Given the description of an element on the screen output the (x, y) to click on. 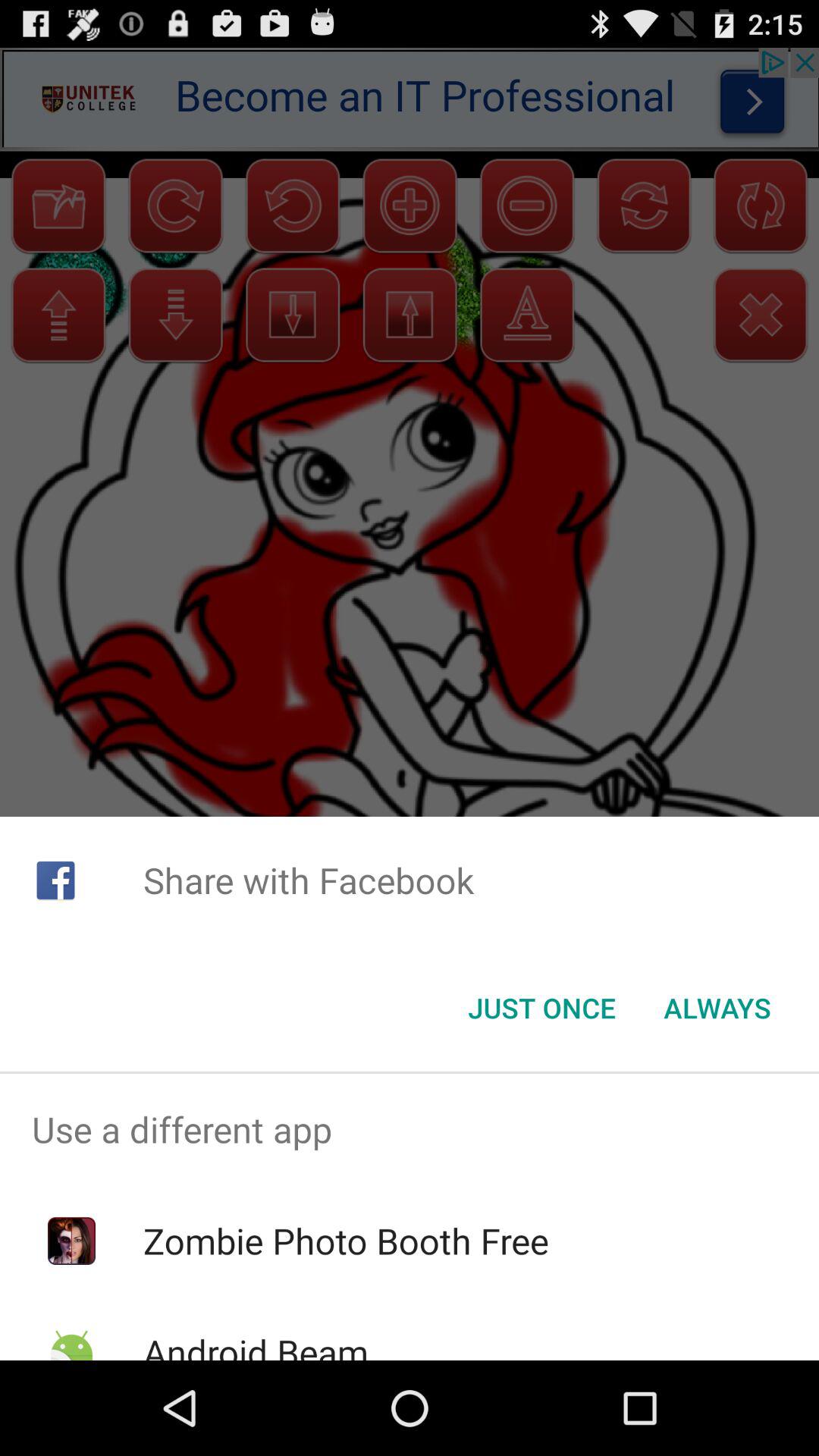
turn off use a different app (409, 1129)
